Given the description of an element on the screen output the (x, y) to click on. 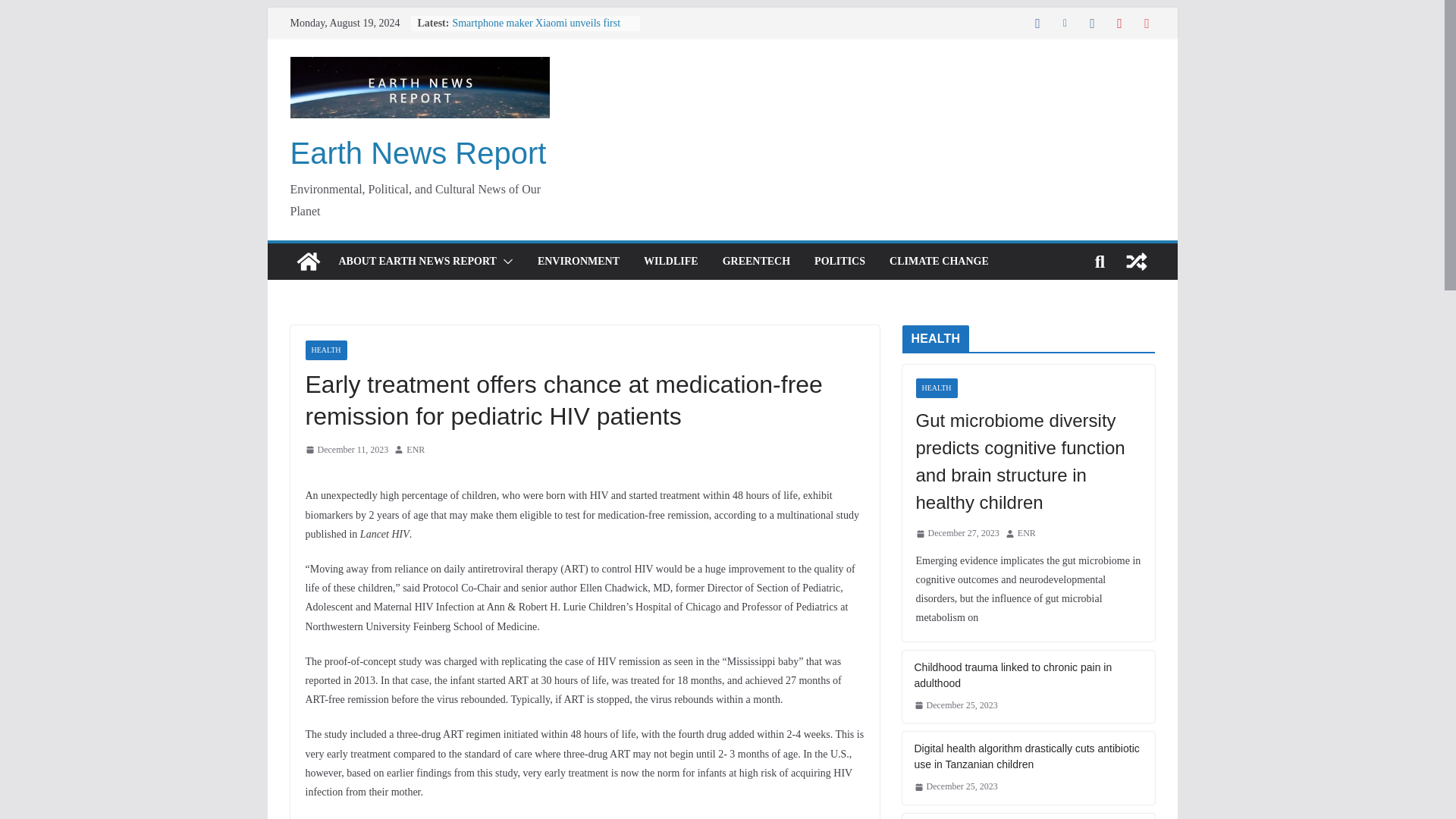
December 11, 2023 (346, 450)
ABOUT EARTH NEWS REPORT (416, 260)
CLIMATE CHANGE (938, 260)
ENR (415, 450)
Earth News Report (417, 152)
POLITICS (838, 260)
ENR (415, 450)
Earth News Report (417, 152)
